Given the description of an element on the screen output the (x, y) to click on. 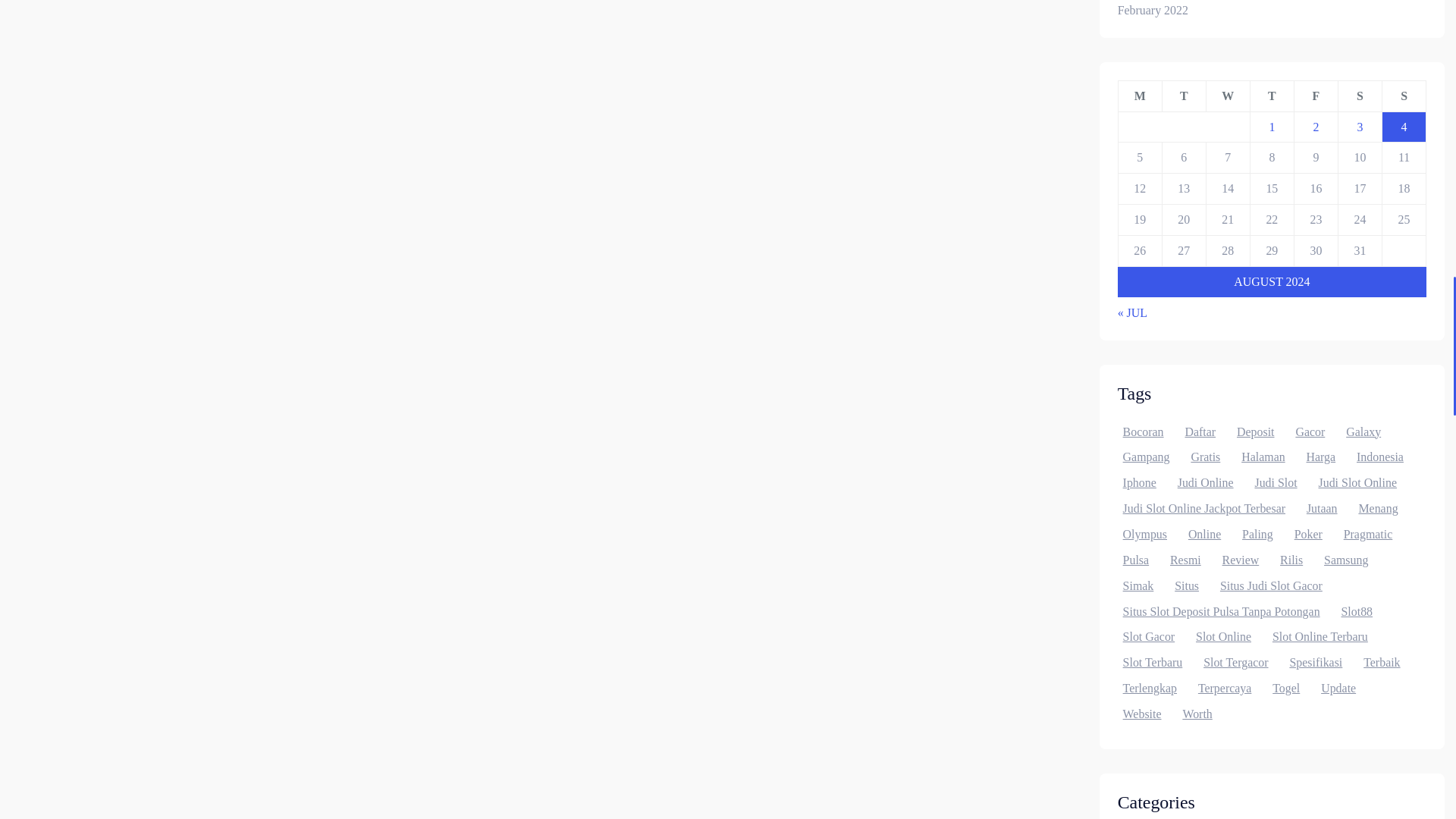
Thursday (1271, 95)
Sunday (1403, 95)
Saturday (1359, 95)
Tuesday (1183, 95)
Friday (1316, 95)
Monday (1139, 95)
Wednesday (1227, 95)
